Given the description of an element on the screen output the (x, y) to click on. 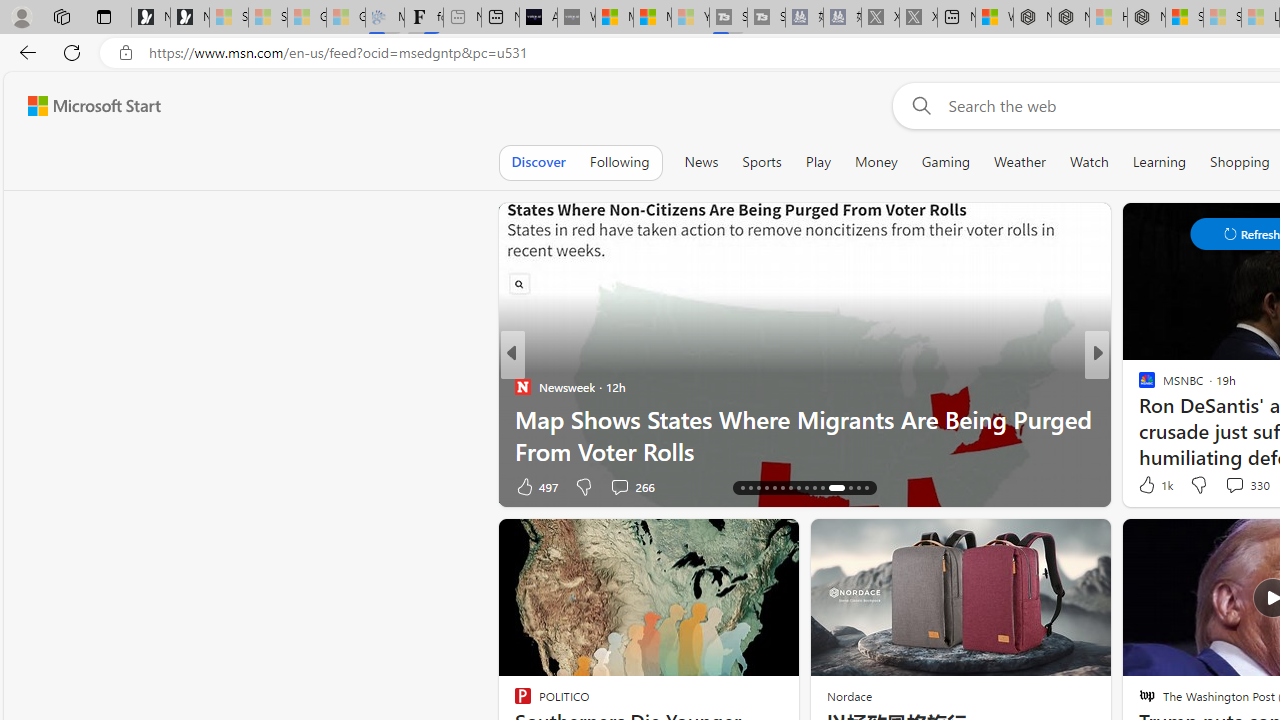
ABC News (1138, 386)
View comments 39 Comment (11, 485)
Weather (1020, 161)
You're following FOX News (445, 490)
What's the best AI voice generator? - voice.ai - Sleeping (576, 17)
8 Like (1145, 486)
Sports (761, 161)
LGBTQ Nation (1138, 386)
View comments 6 Comment (11, 485)
Newsletter Sign Up (189, 17)
AutomationID: tab-21 (782, 487)
